Given the description of an element on the screen output the (x, y) to click on. 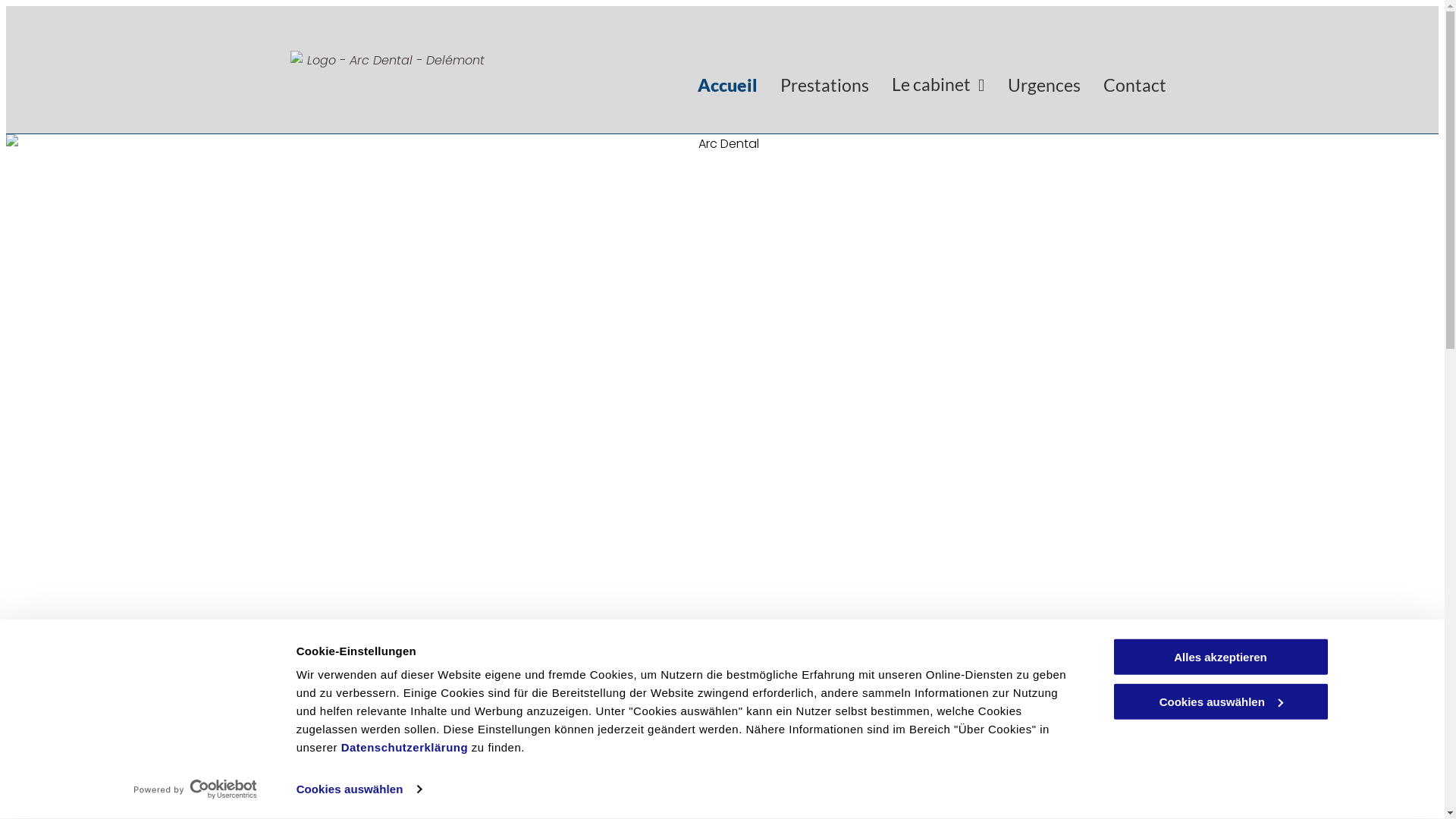
Le cabinet Element type: text (937, 84)
Accueil Element type: text (727, 84)
Urgences Element type: text (1043, 84)
Alles akzeptieren Element type: text (1219, 656)
Prestations Element type: text (824, 84)
Contact Element type: text (1133, 84)
